Given the description of an element on the screen output the (x, y) to click on. 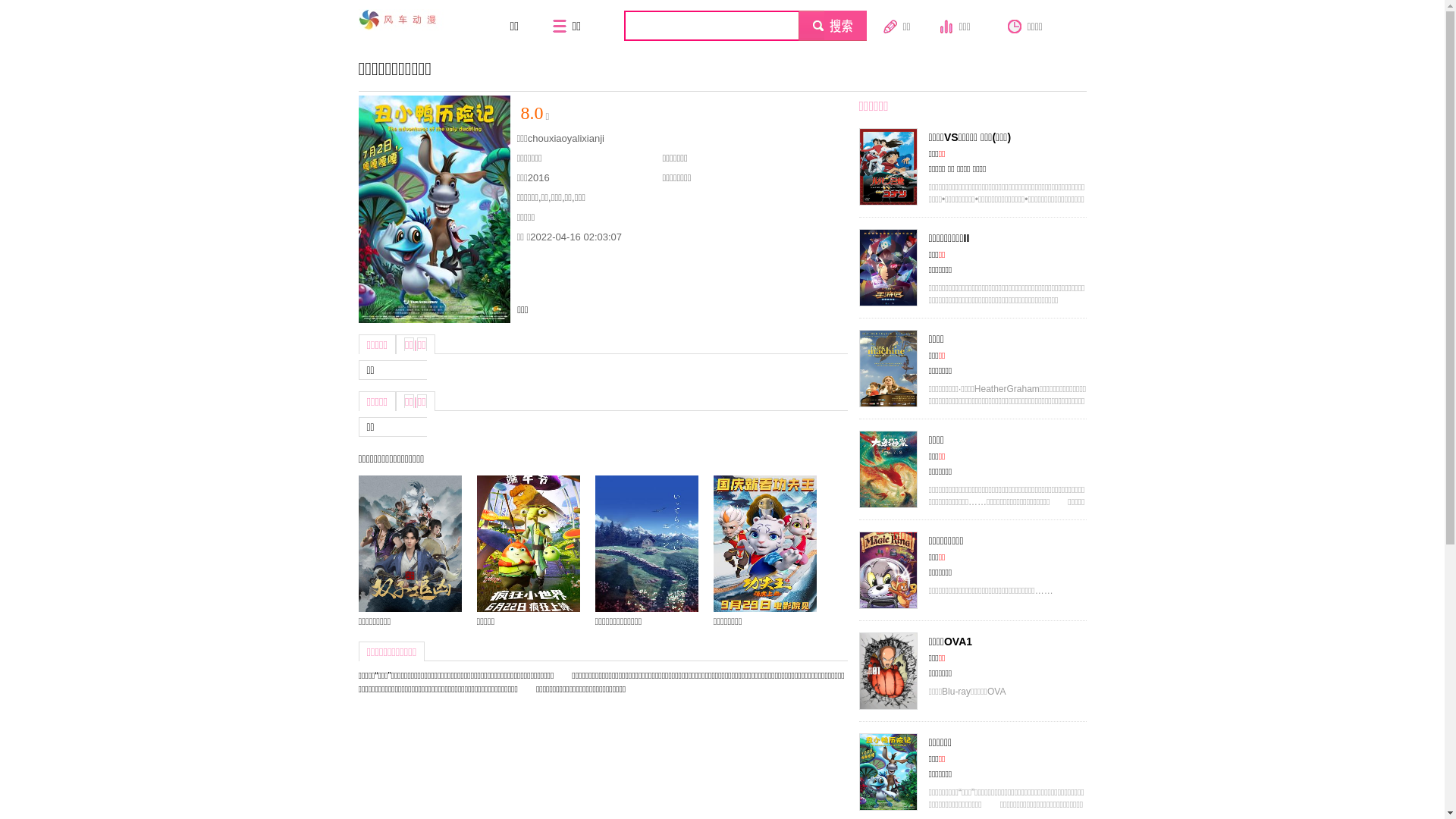
2016 Element type: text (538, 177)
